Given the description of an element on the screen output the (x, y) to click on. 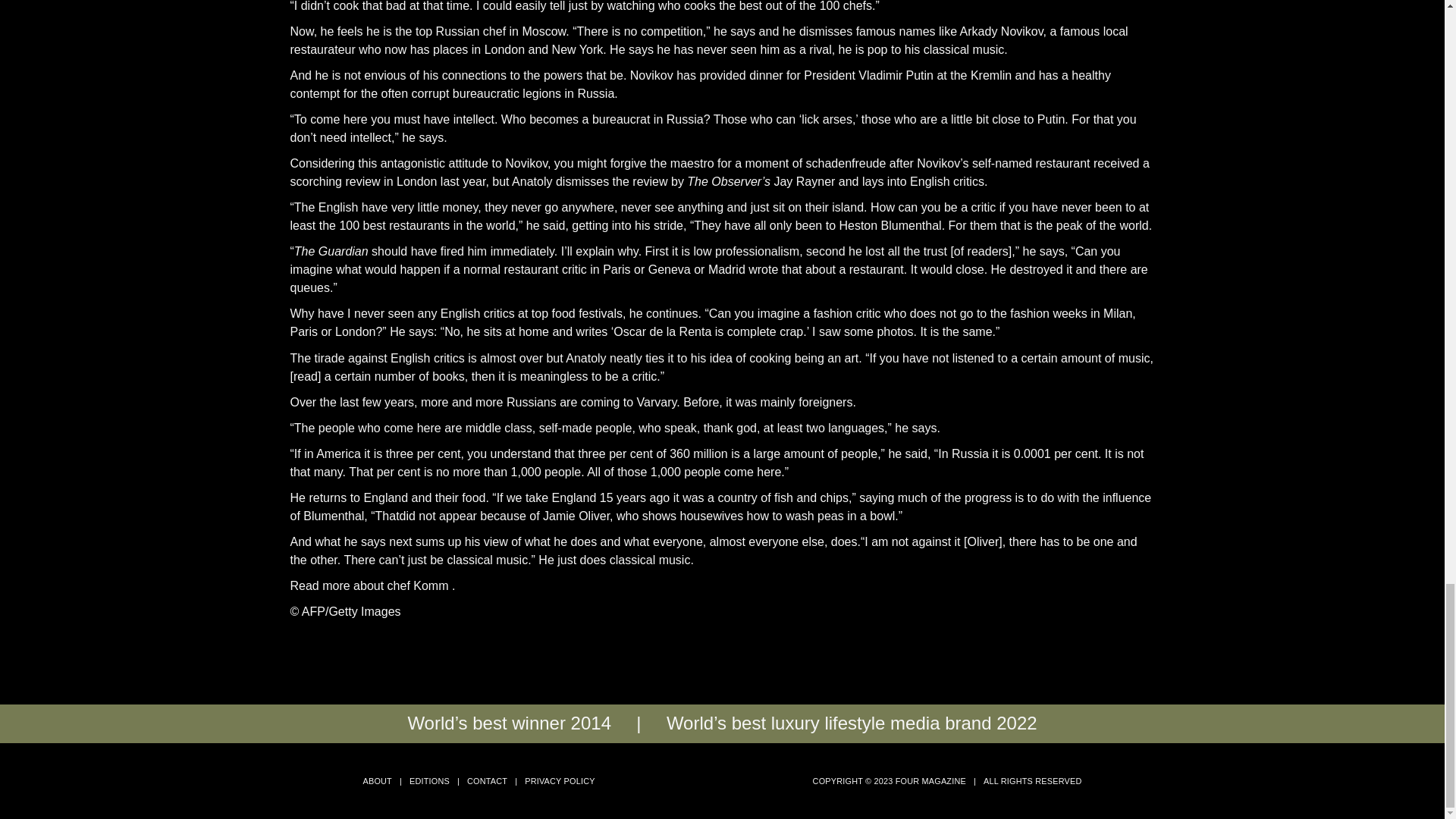
PRIVACY POLICY (559, 780)
EDITIONS (429, 780)
CONTACT (486, 780)
ABOUT (376, 780)
